Given the description of an element on the screen output the (x, y) to click on. 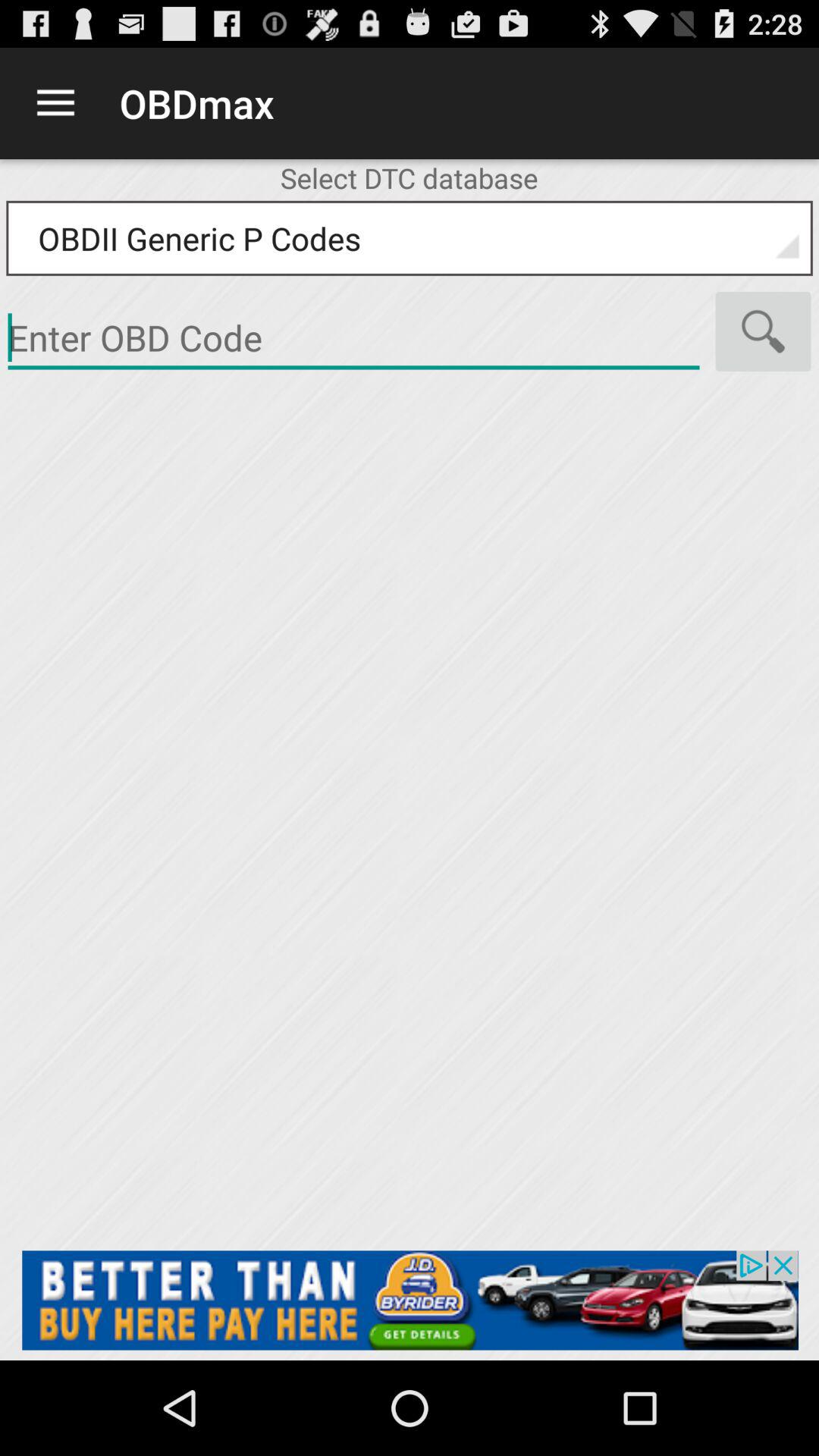
advertisement (353, 338)
